Given the description of an element on the screen output the (x, y) to click on. 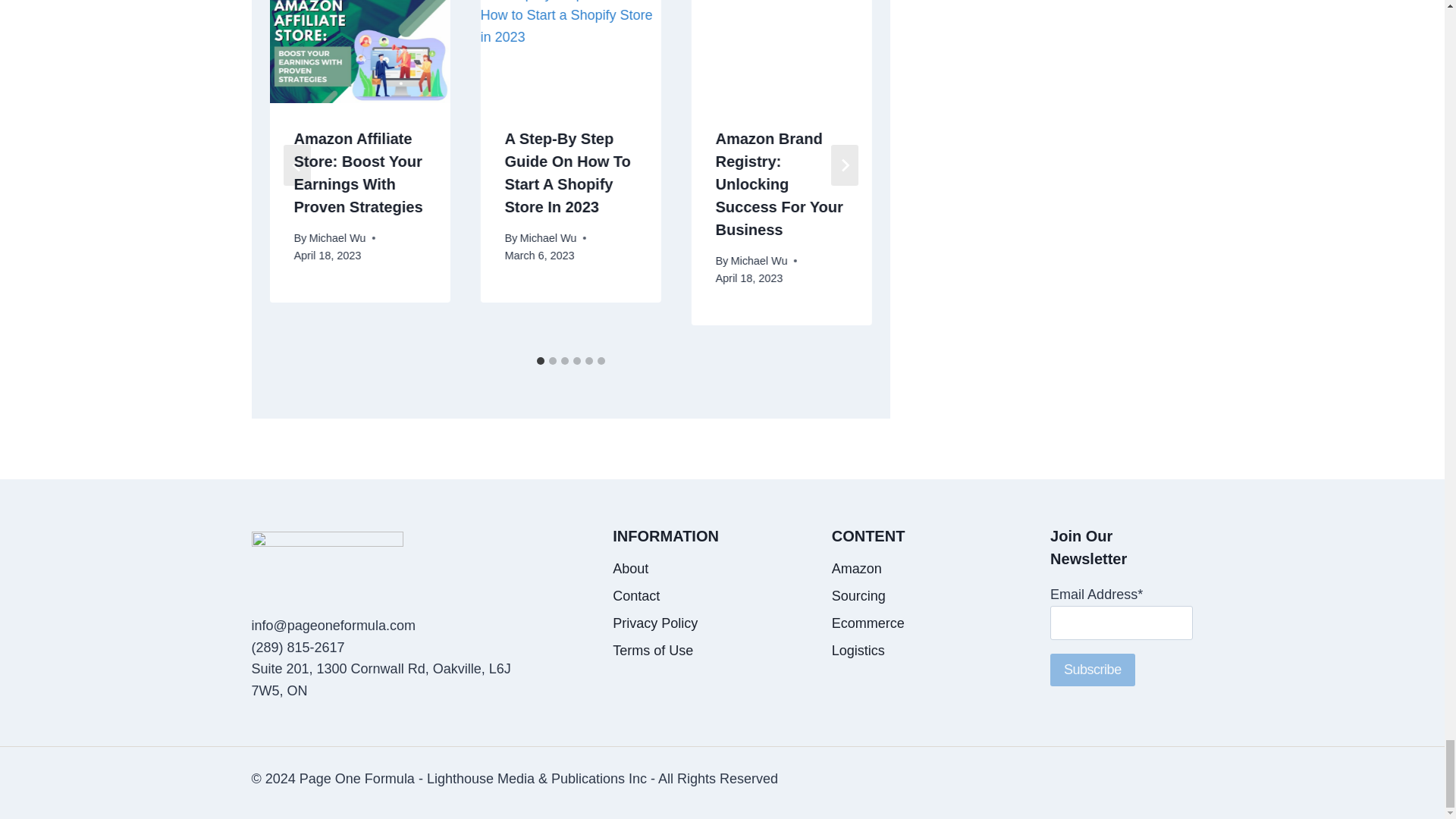
Subscribe (1092, 669)
